Given the description of an element on the screen output the (x, y) to click on. 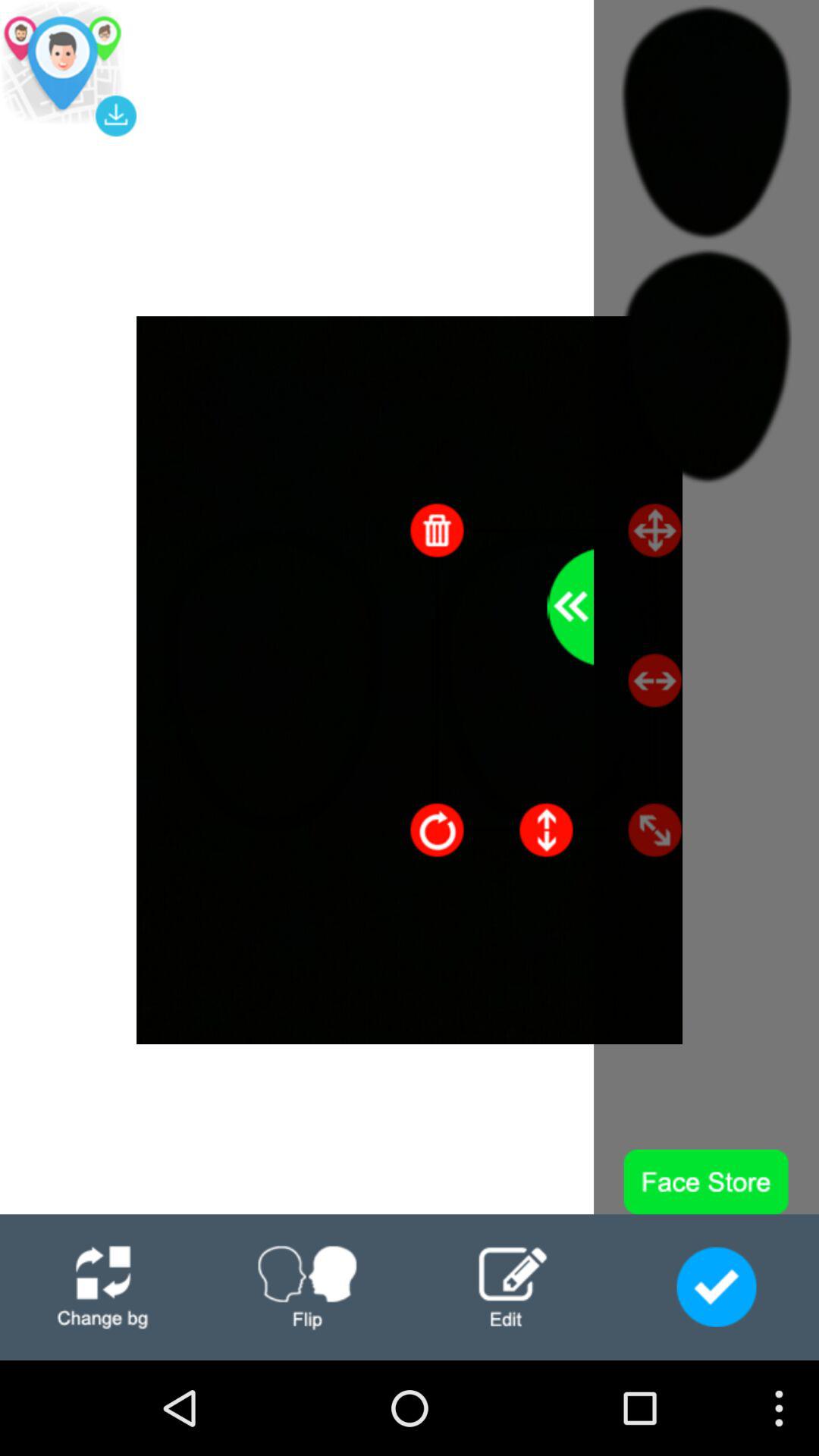
menu option (102, 1287)
